Given the description of an element on the screen output the (x, y) to click on. 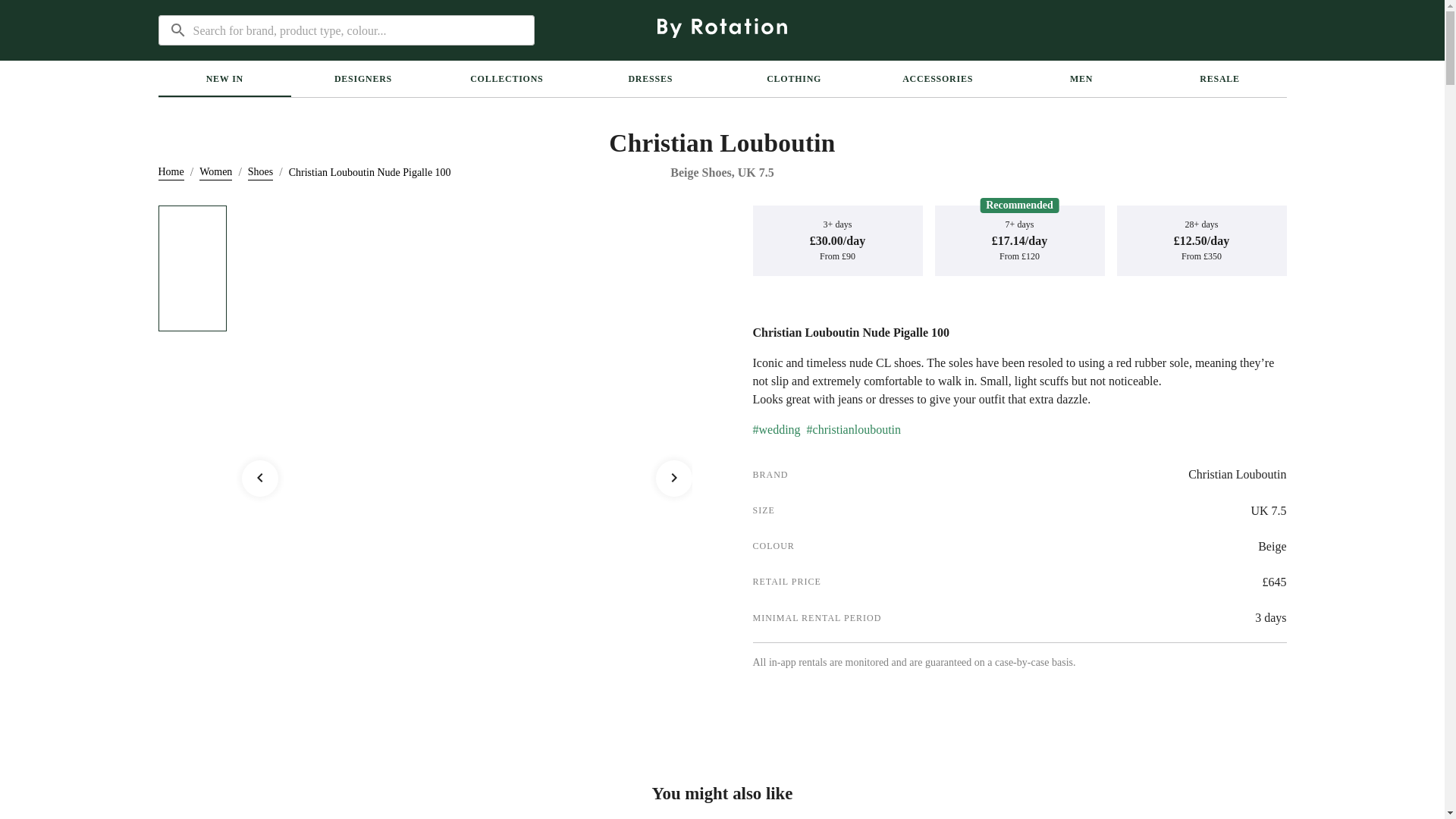
RESALE (1219, 78)
Shoes (260, 172)
Home (170, 172)
NEW IN (224, 78)
Women (215, 172)
